Given the description of an element on the screen output the (x, y) to click on. 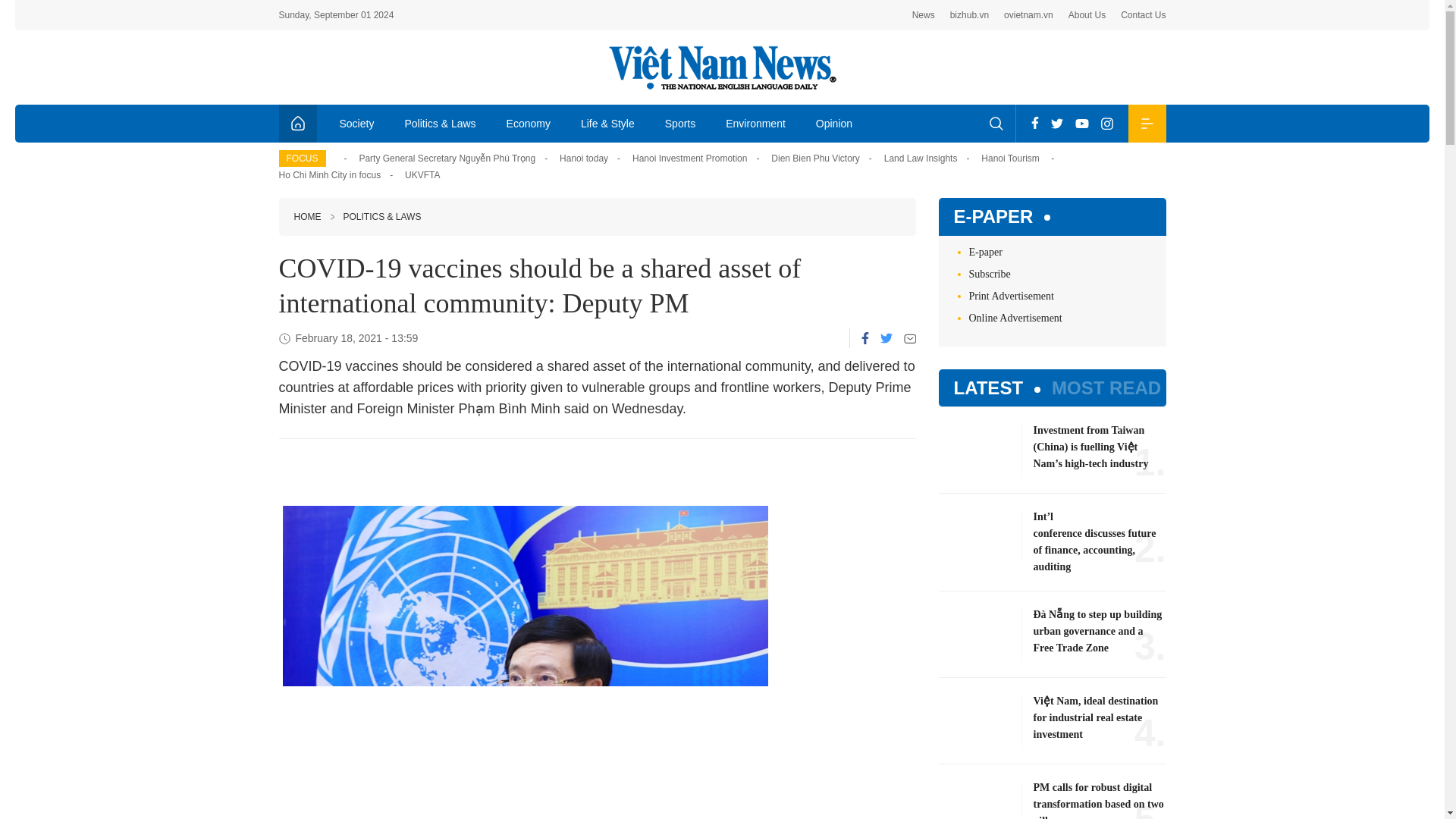
About Us (1086, 15)
News (923, 15)
Twitter (1056, 122)
Youtube (1081, 122)
Facebook (1035, 123)
Economy (529, 123)
bizhub.vn (969, 15)
Opinion (833, 123)
Instagram (1106, 123)
Sports (679, 123)
